Given the description of an element on the screen output the (x, y) to click on. 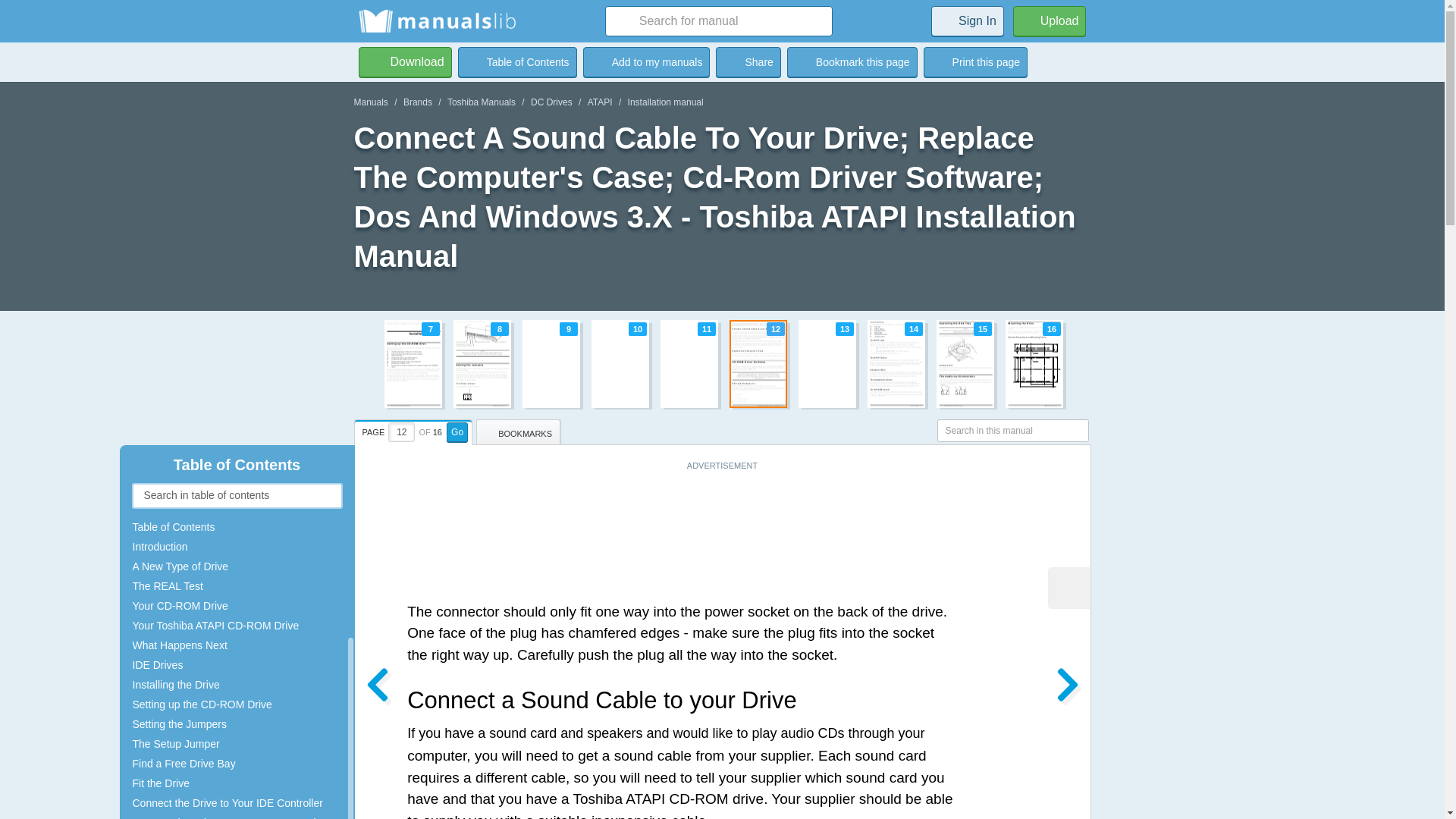
Table of Contents (517, 61)
Sign In (967, 20)
Share this manual (748, 61)
Go (456, 432)
Print this page (975, 61)
Share (748, 61)
ATAPI (600, 102)
Upload (721, 363)
Download (1049, 20)
